Given the description of an element on the screen output the (x, y) to click on. 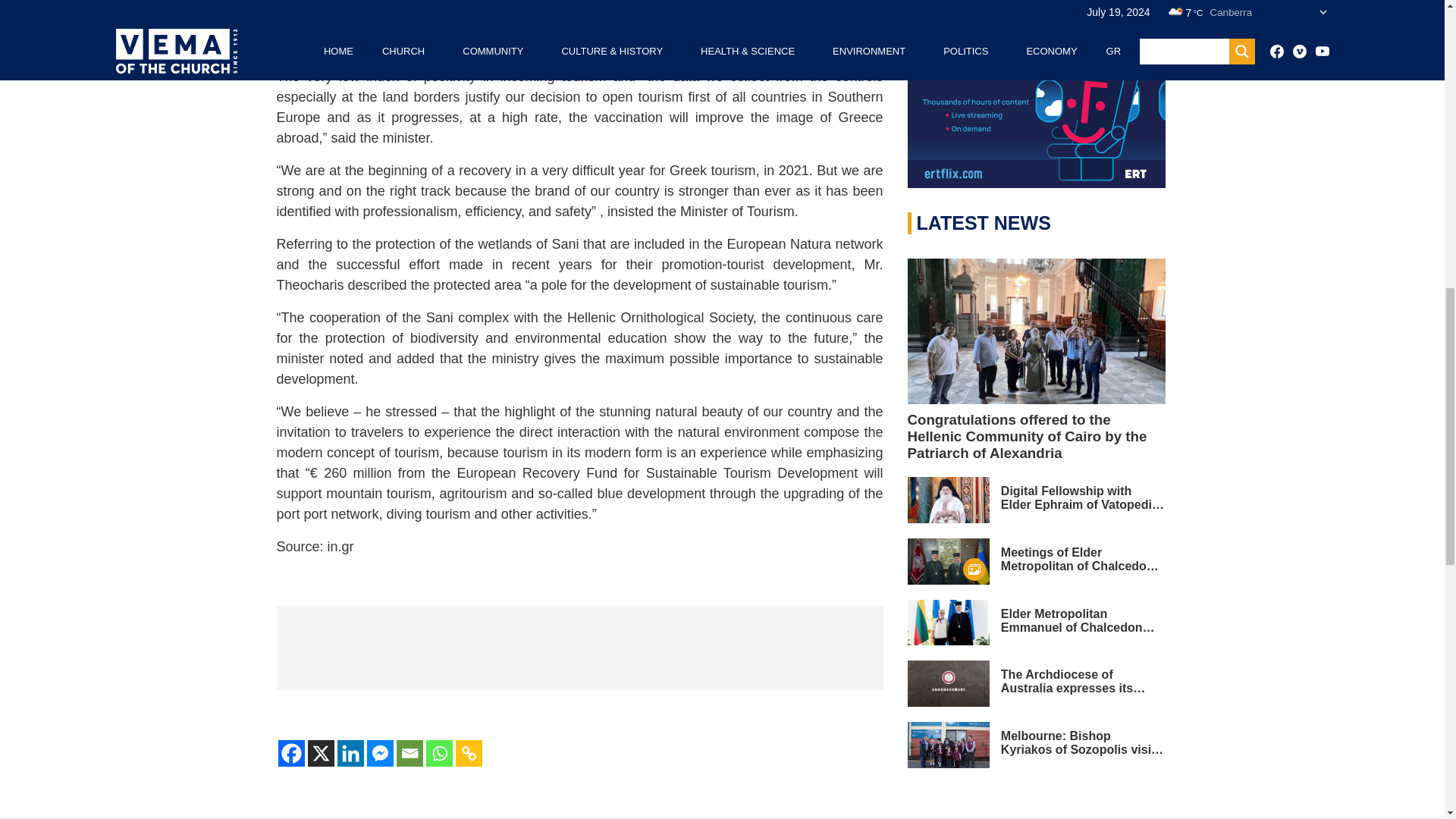
Whatsapp (439, 753)
Saint John's Community Care (579, 648)
Email (409, 753)
Linkedin (349, 753)
Facebook (291, 753)
Copy Link (467, 753)
X (320, 753)
